Given the description of an element on the screen output the (x, y) to click on. 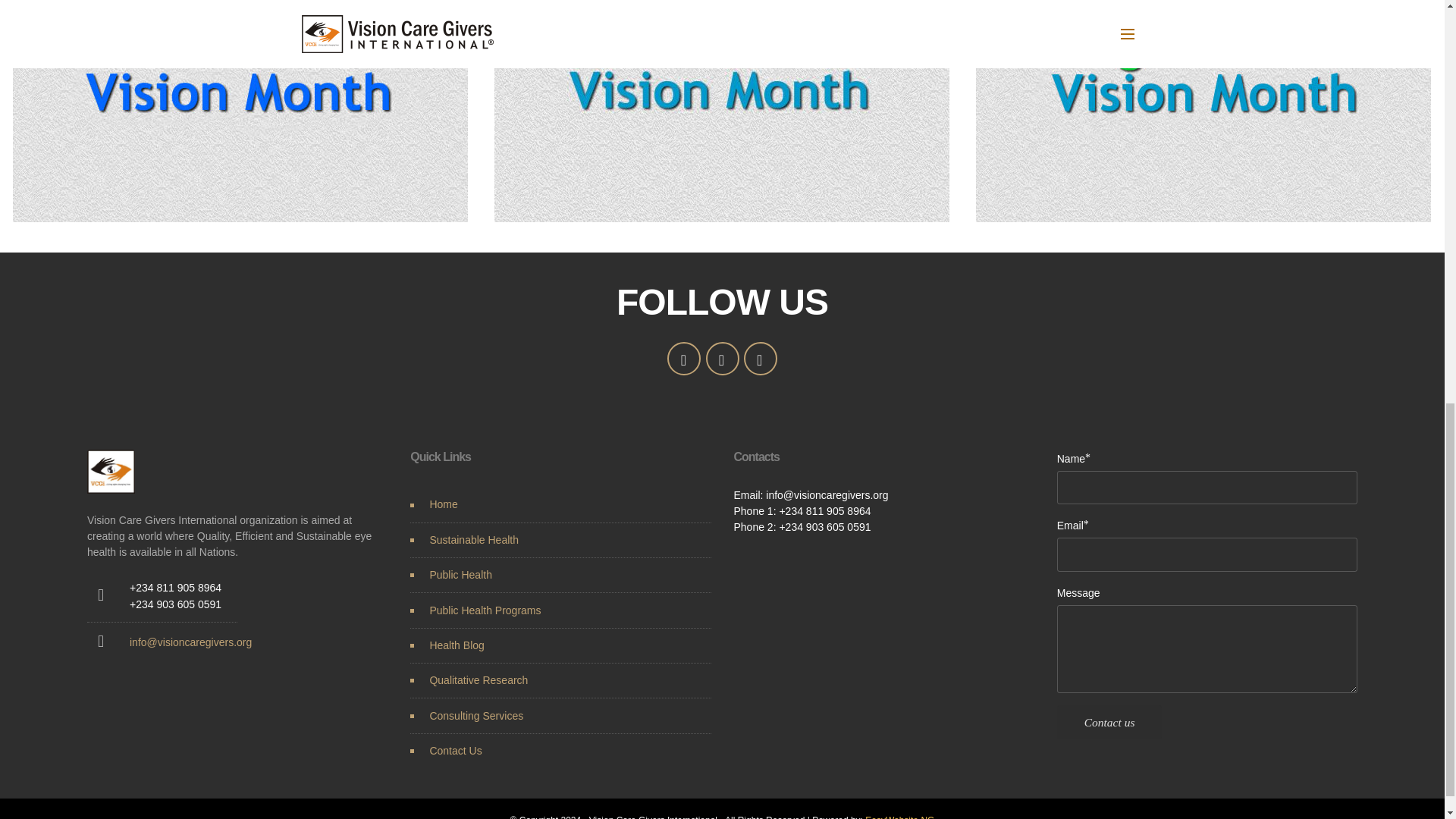
Health Blog (456, 645)
Contact us (1109, 722)
Twitter (683, 358)
Public Health (460, 574)
Facebook (721, 358)
LinkedIn (760, 358)
Sustainable Health (473, 539)
EasyWebsite NG (899, 816)
Home (443, 503)
Public Health Programs (484, 609)
Qualitative Research (478, 680)
Consulting Services (475, 715)
Contact Us (455, 750)
